Given the description of an element on the screen output the (x, y) to click on. 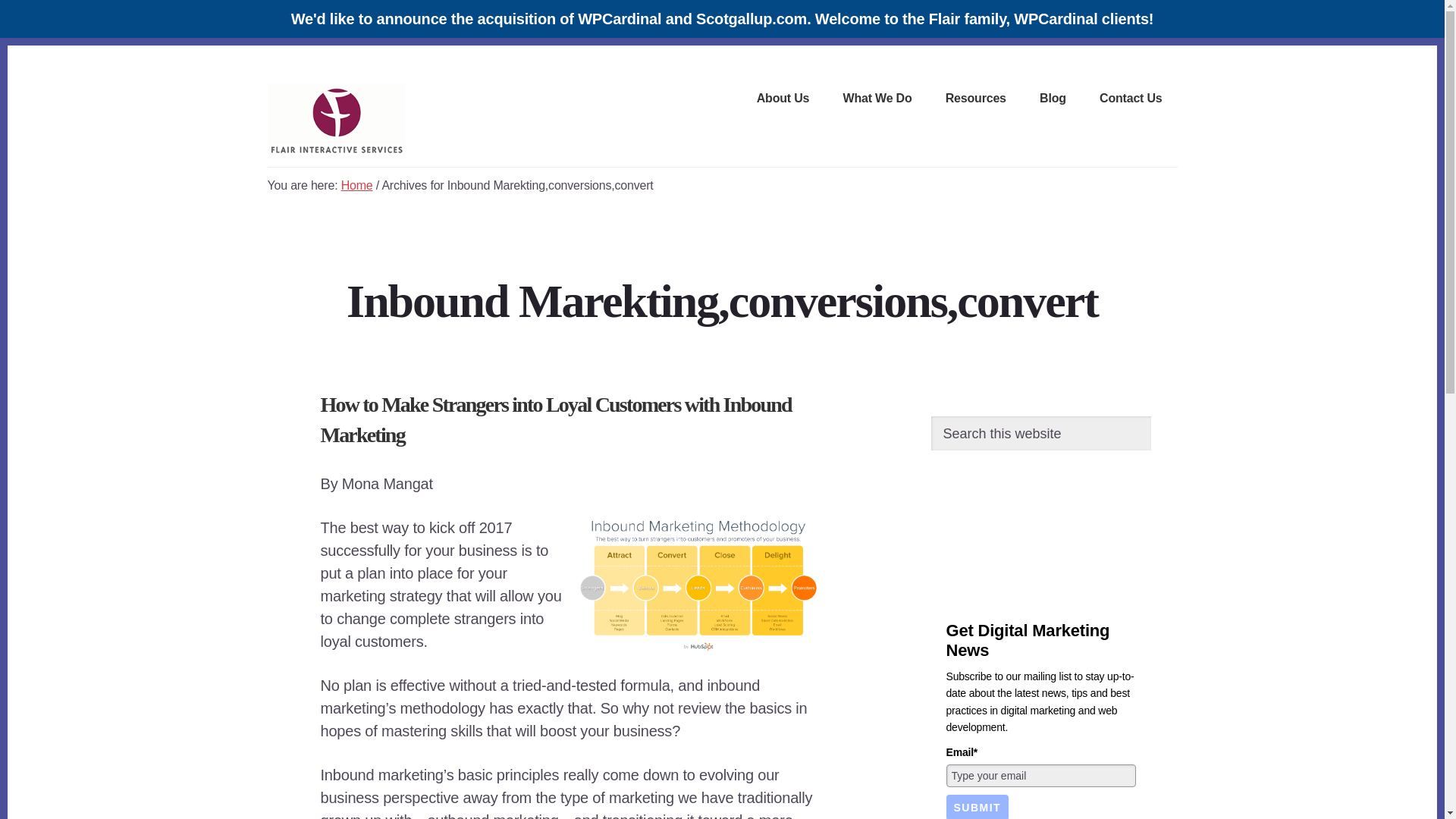
Contact Us (1130, 99)
SUBMIT (977, 806)
About Us (783, 99)
Home (356, 185)
Blog (1052, 99)
